Given the description of an element on the screen output the (x, y) to click on. 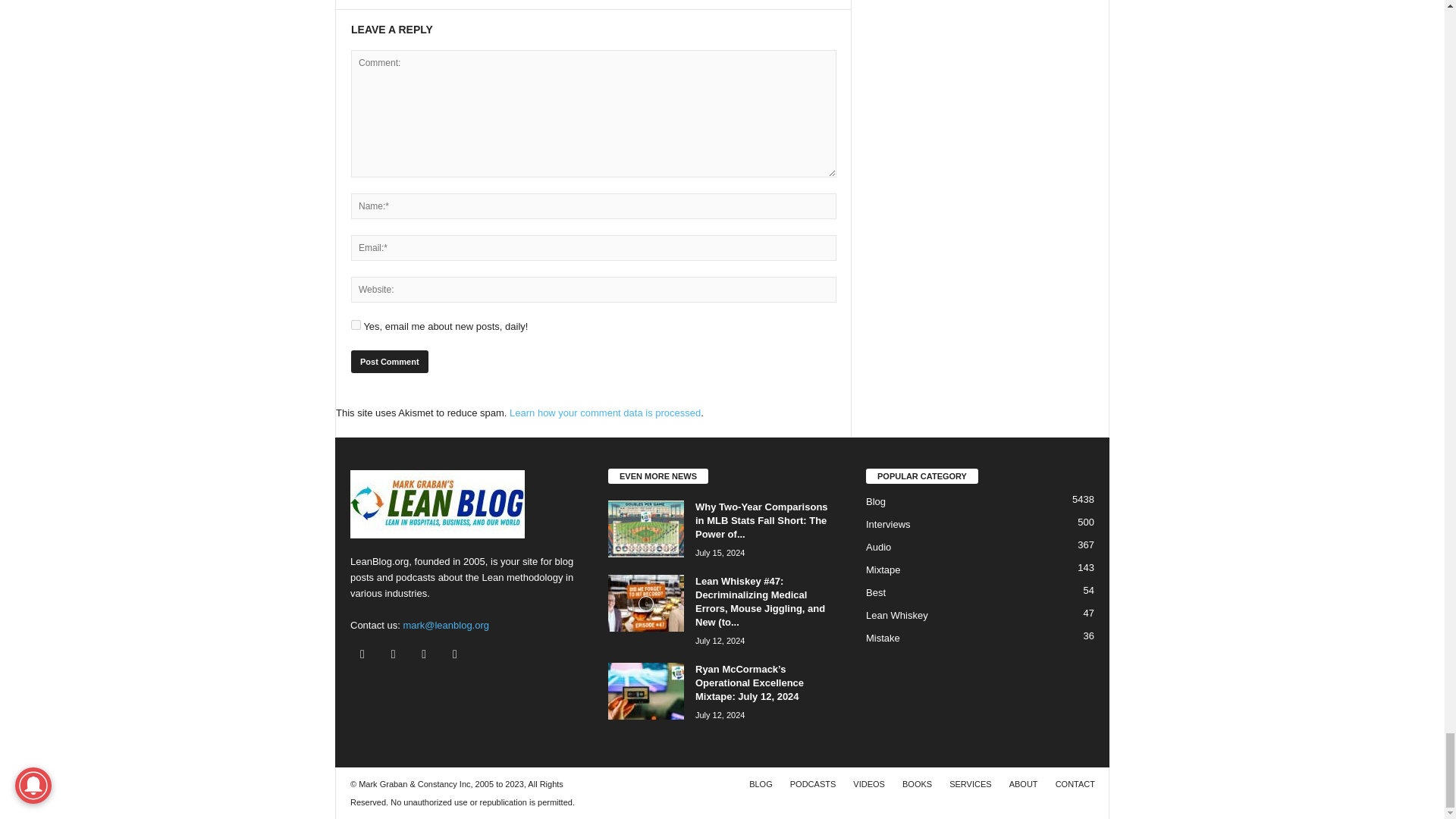
Post Comment (389, 360)
1 (355, 324)
